Given the description of an element on the screen output the (x, y) to click on. 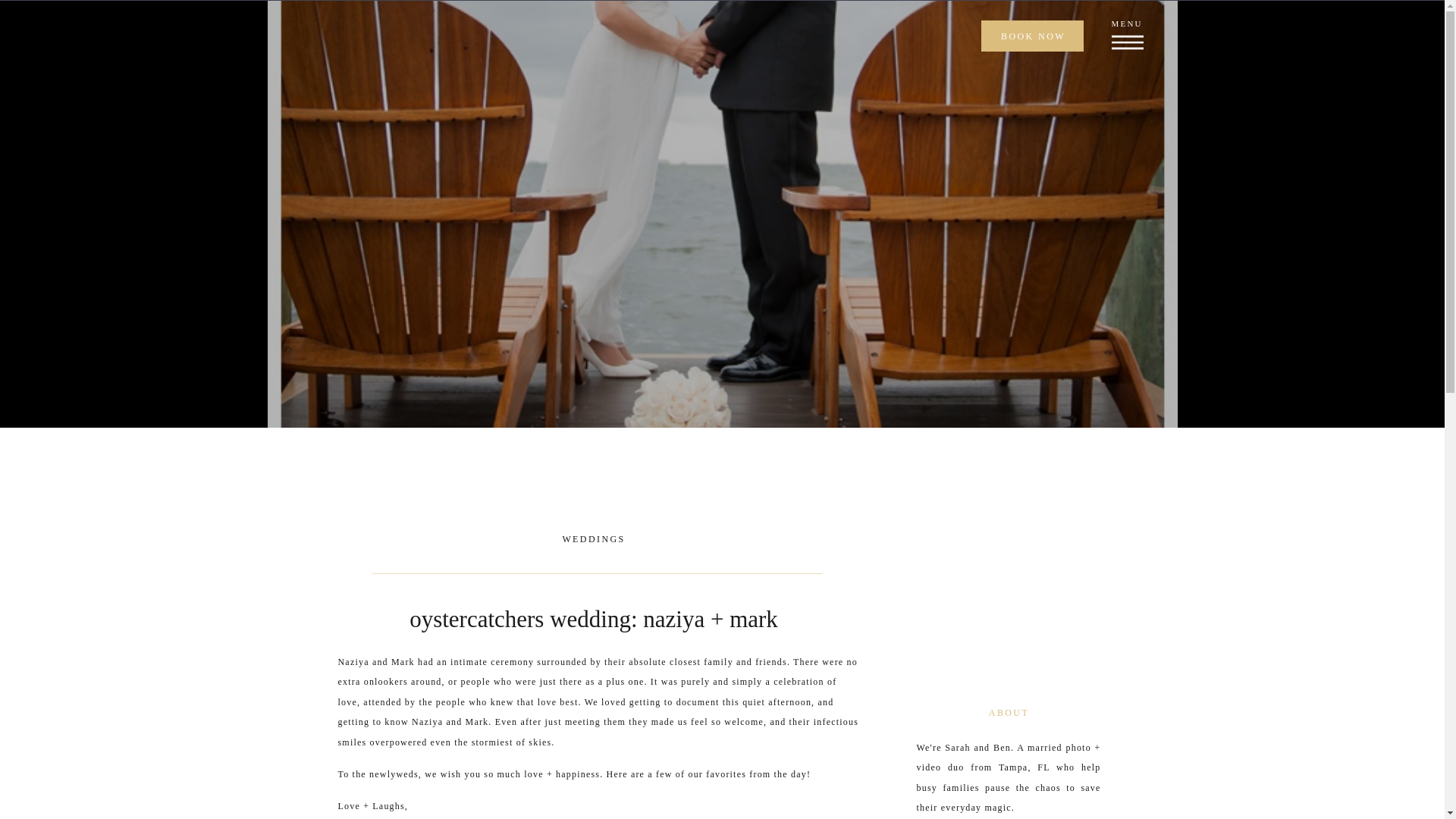
BOOK NOW (1033, 35)
WEDDINGS (593, 538)
